Given the description of an element on the screen output the (x, y) to click on. 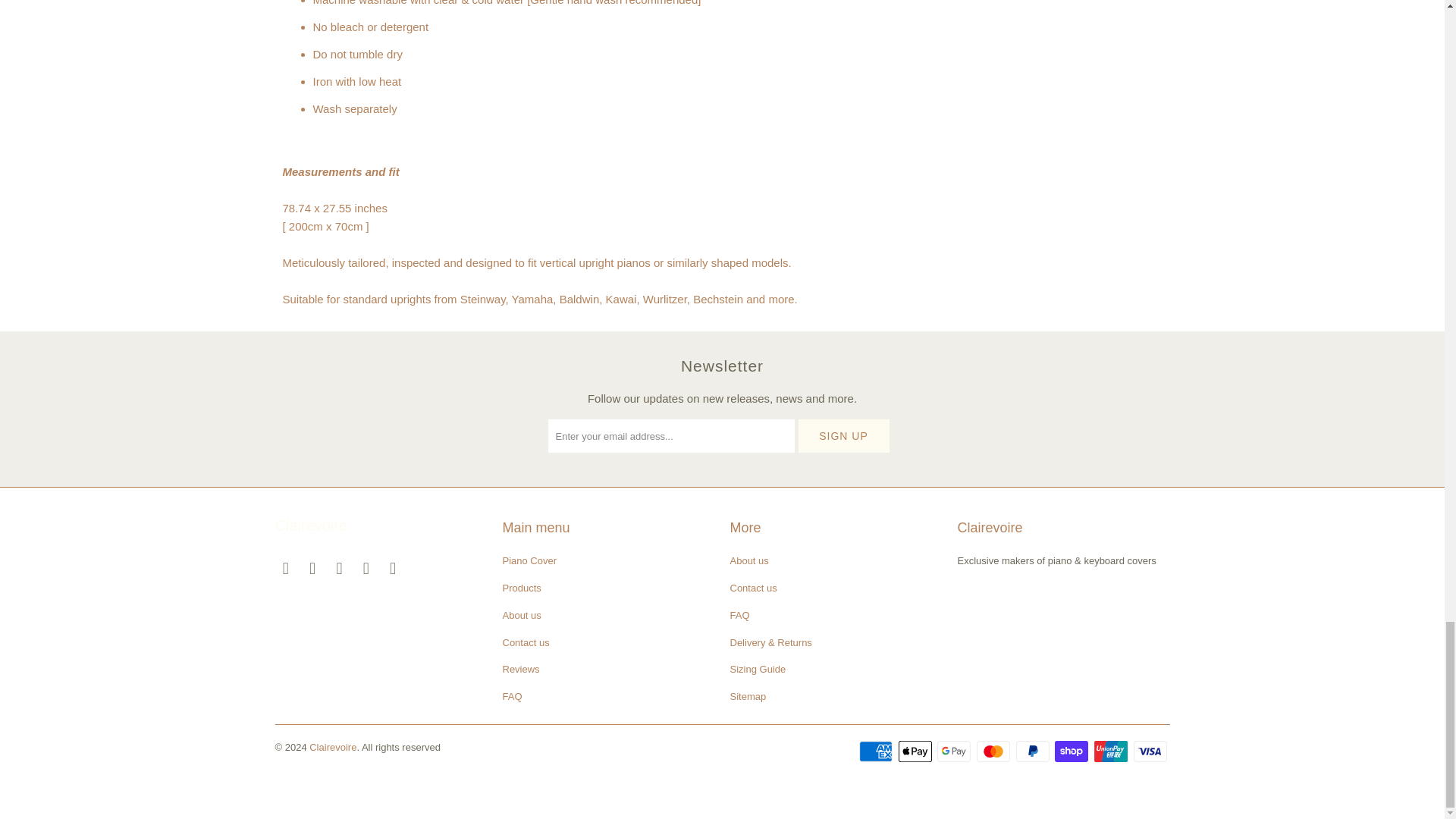
American Express (877, 751)
Mastercard (994, 751)
Apple Pay (916, 751)
Shop Pay (1072, 751)
Union Pay (1112, 751)
PayPal (1034, 751)
Google Pay (955, 751)
Sign Up (842, 435)
Visa (1150, 751)
